Given the description of an element on the screen output the (x, y) to click on. 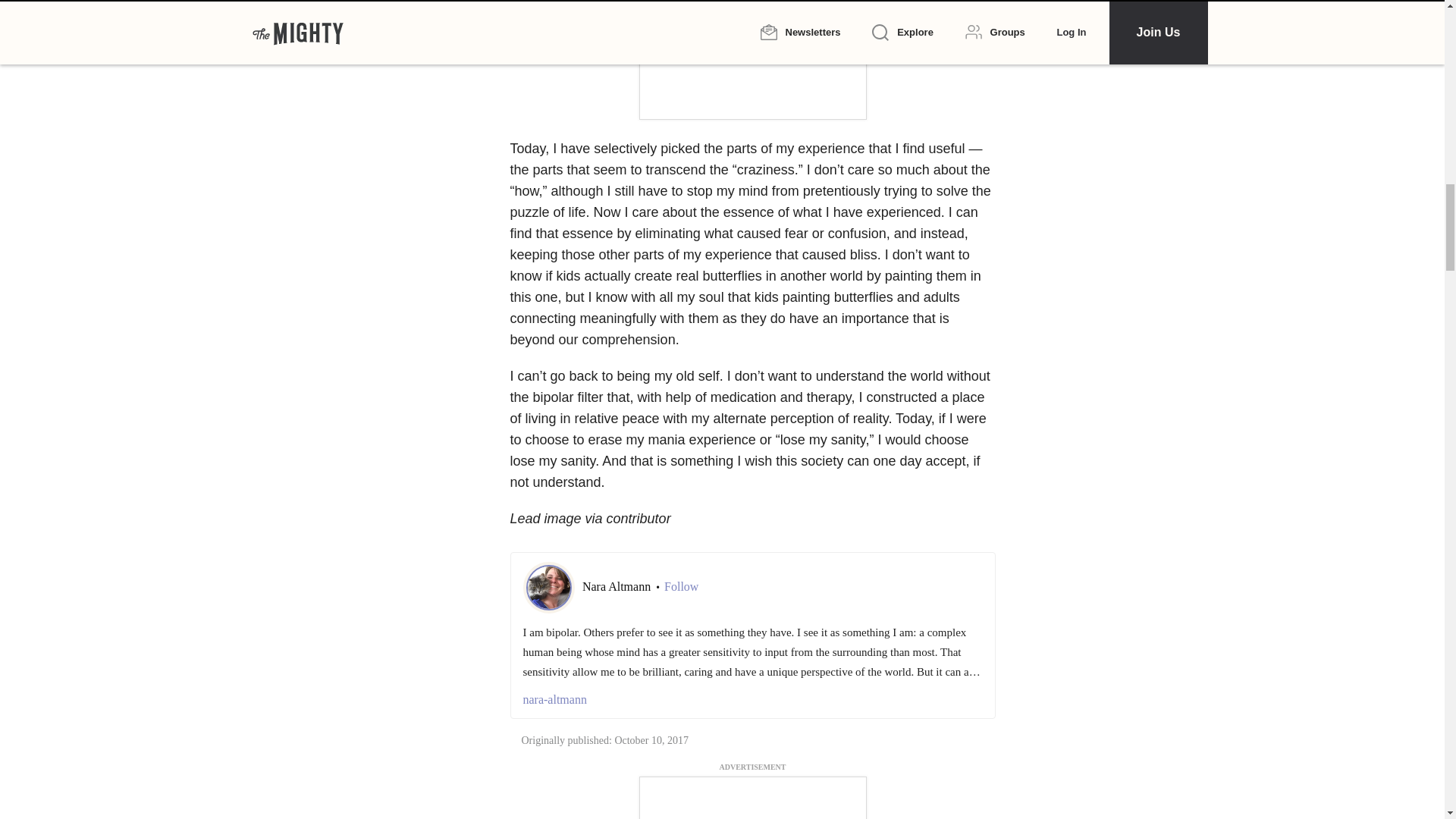
Nara Altmann (617, 585)
Follow (680, 586)
nara-altmann (752, 700)
